Given the description of an element on the screen output the (x, y) to click on. 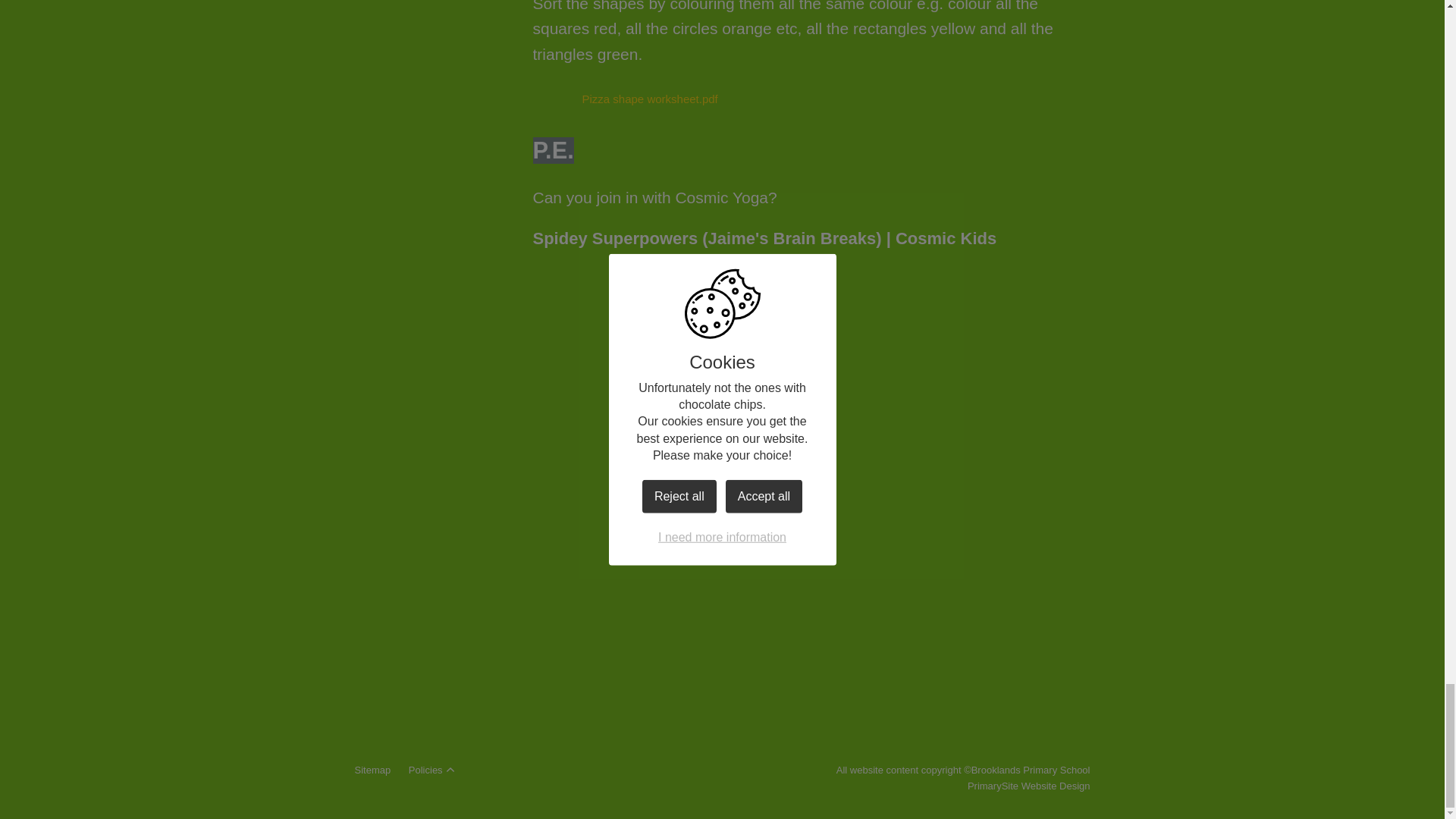
Pizza shape worksheet.pdf (624, 99)
